Given the description of an element on the screen output the (x, y) to click on. 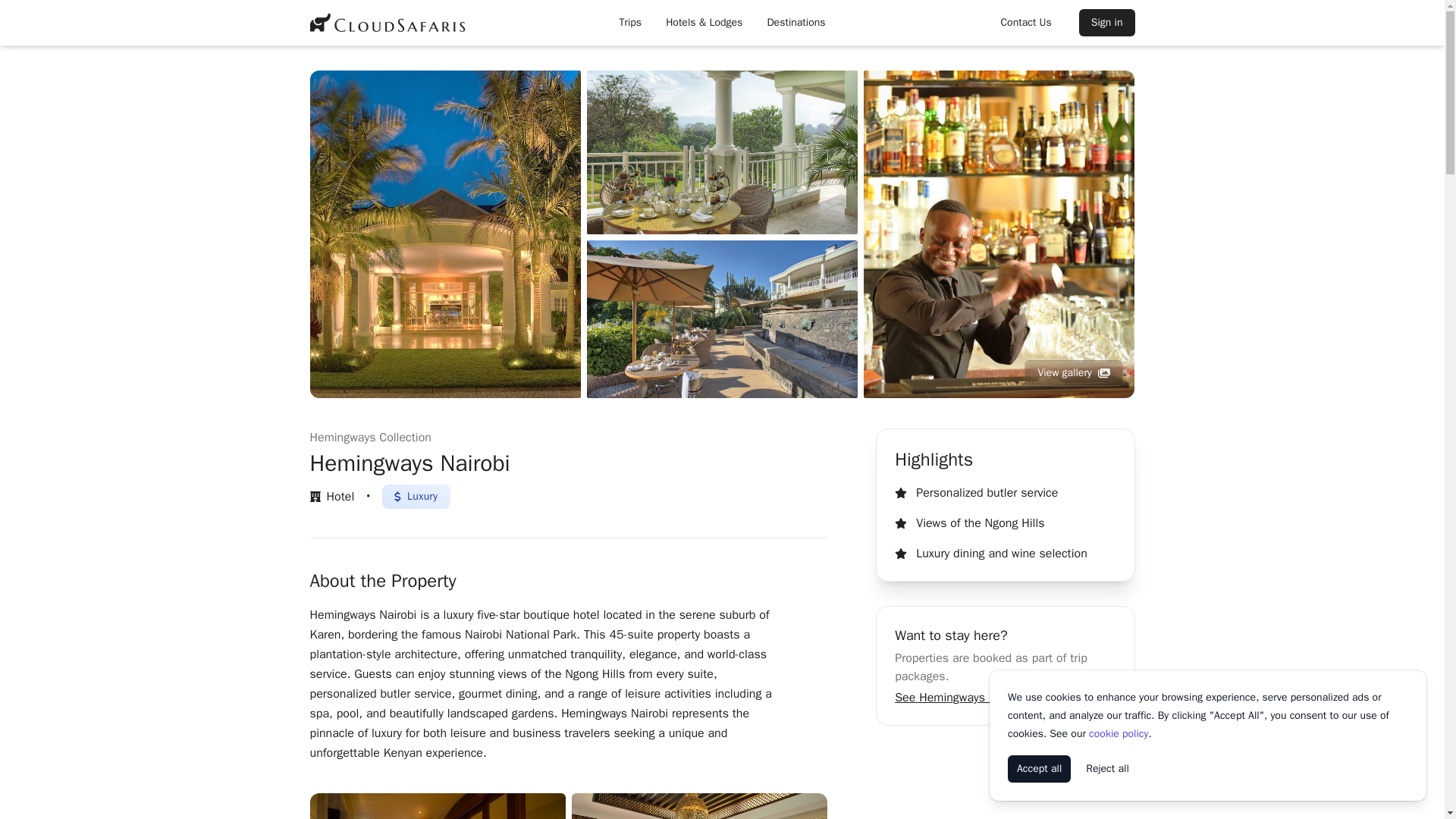
View gallery (1073, 372)
Sign in (1106, 22)
Contact Us (1024, 22)
cookie policy (1118, 733)
Destinations (795, 22)
Reject all (1107, 769)
Trips (630, 22)
Accept all (1038, 768)
